Given the description of an element on the screen output the (x, y) to click on. 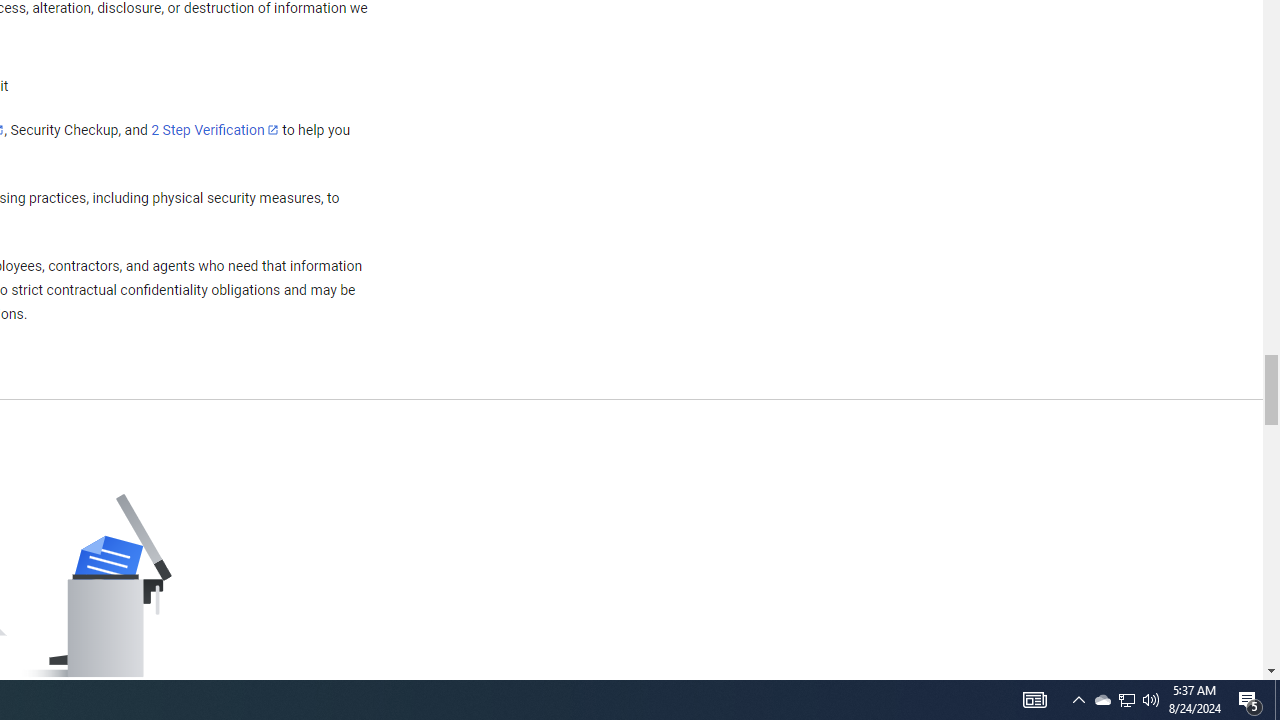
2 Step Verification (215, 129)
